Given the description of an element on the screen output the (x, y) to click on. 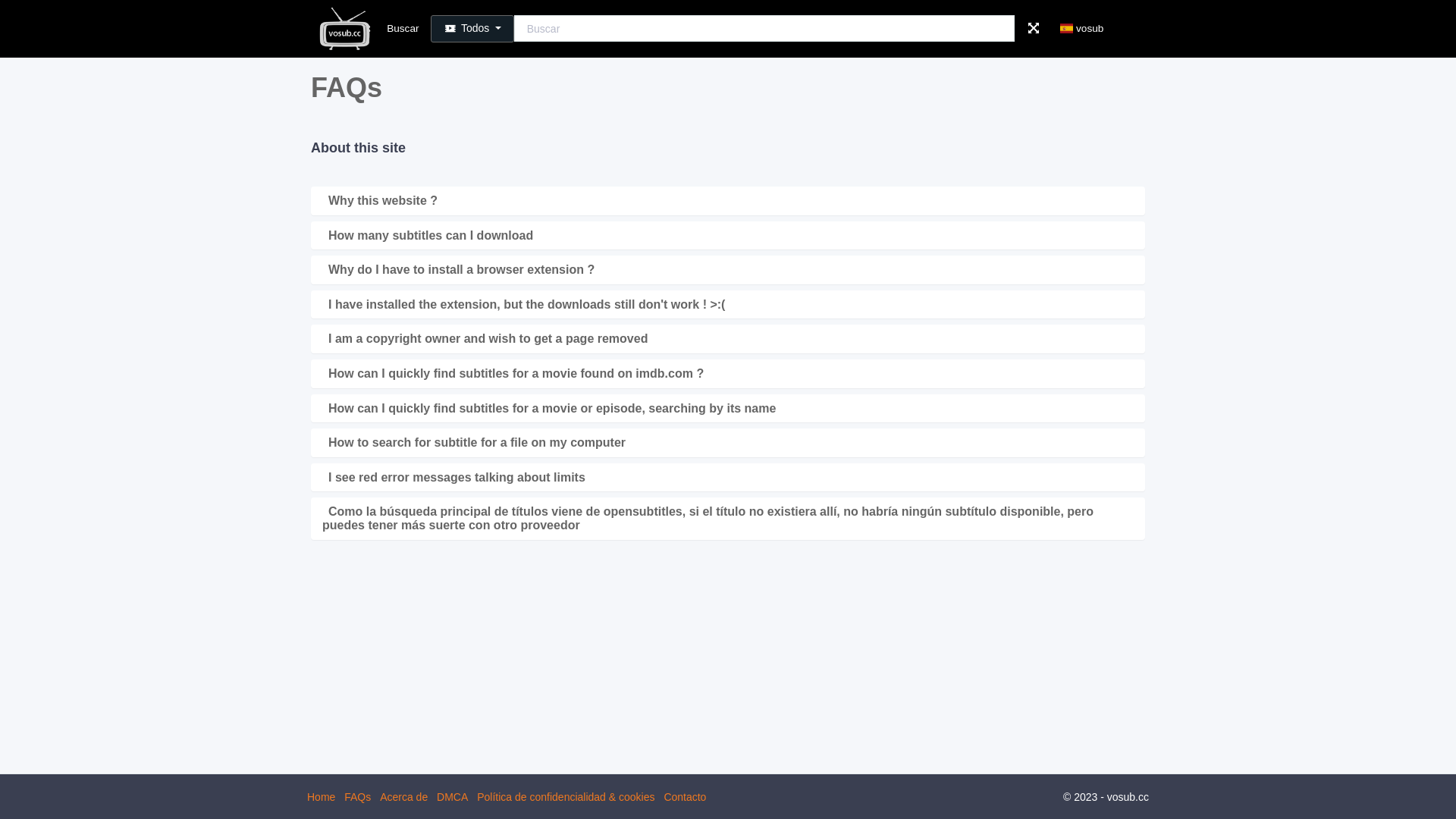
vosub Element type: text (1077, 28)
Why this website ? Element type: text (379, 200)
FAQs Element type: text (357, 796)
I am a copyright owner and wish to get a page removed Element type: text (484, 338)
Buscar Element type: text (402, 28)
DMCA Element type: text (451, 796)
I see red error messages talking about limits Element type: text (453, 476)
How to search for subtitle for a file on my computer Element type: text (473, 442)
Why do I have to install a browser extension ? Element type: text (458, 269)
Acerca de Element type: text (403, 796)
Todos Element type: text (472, 28)
Contacto Element type: text (684, 796)
How many subtitles can I download Element type: text (427, 235)
Home Element type: text (321, 796)
